Given the description of an element on the screen output the (x, y) to click on. 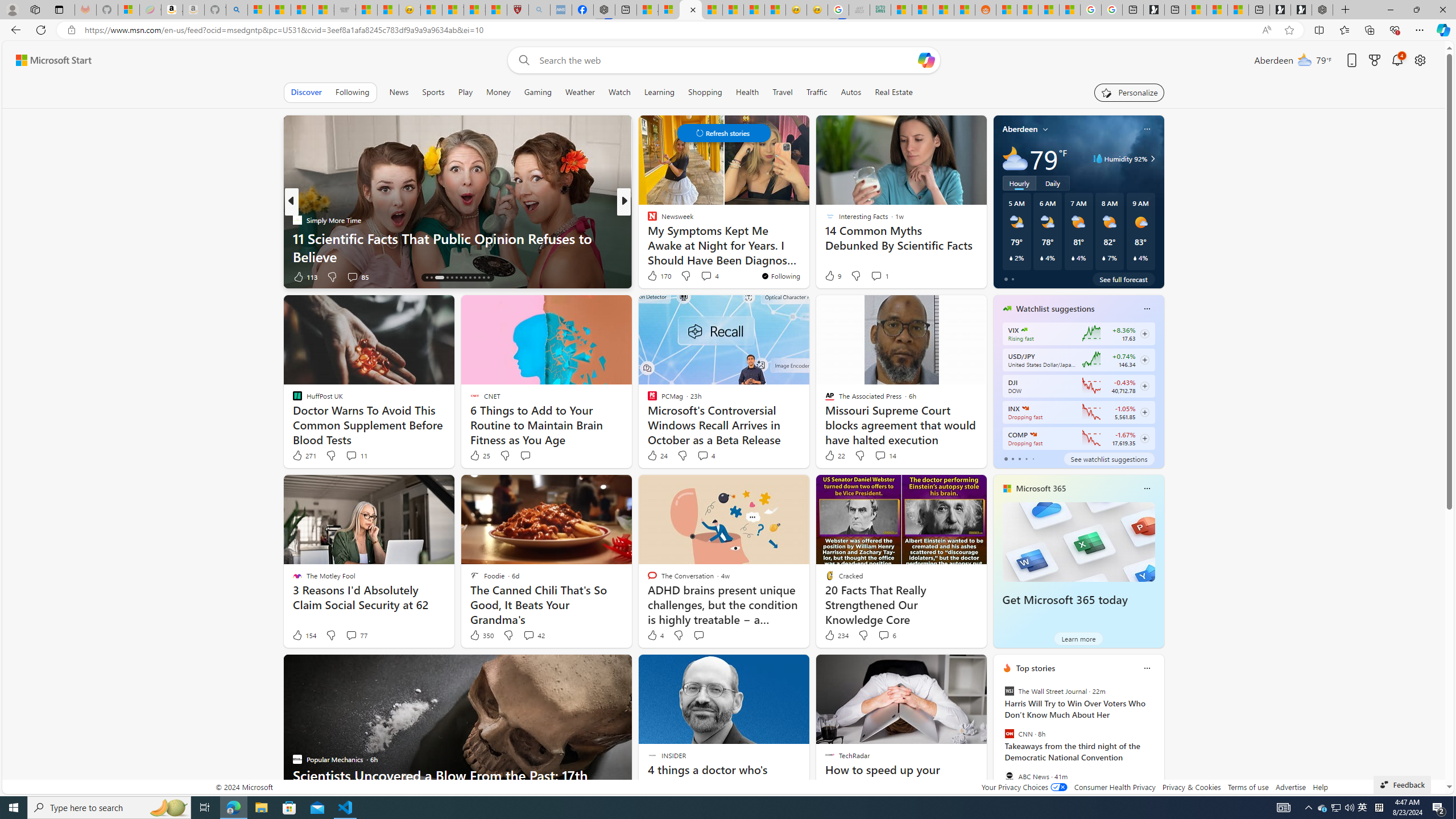
NASDAQ (1032, 434)
AutomationID: tab-15 (431, 277)
AutomationID: tab-19 (456, 277)
FOX News (647, 219)
154 Like (303, 634)
You're following Newsweek (780, 275)
